Given the description of an element on the screen output the (x, y) to click on. 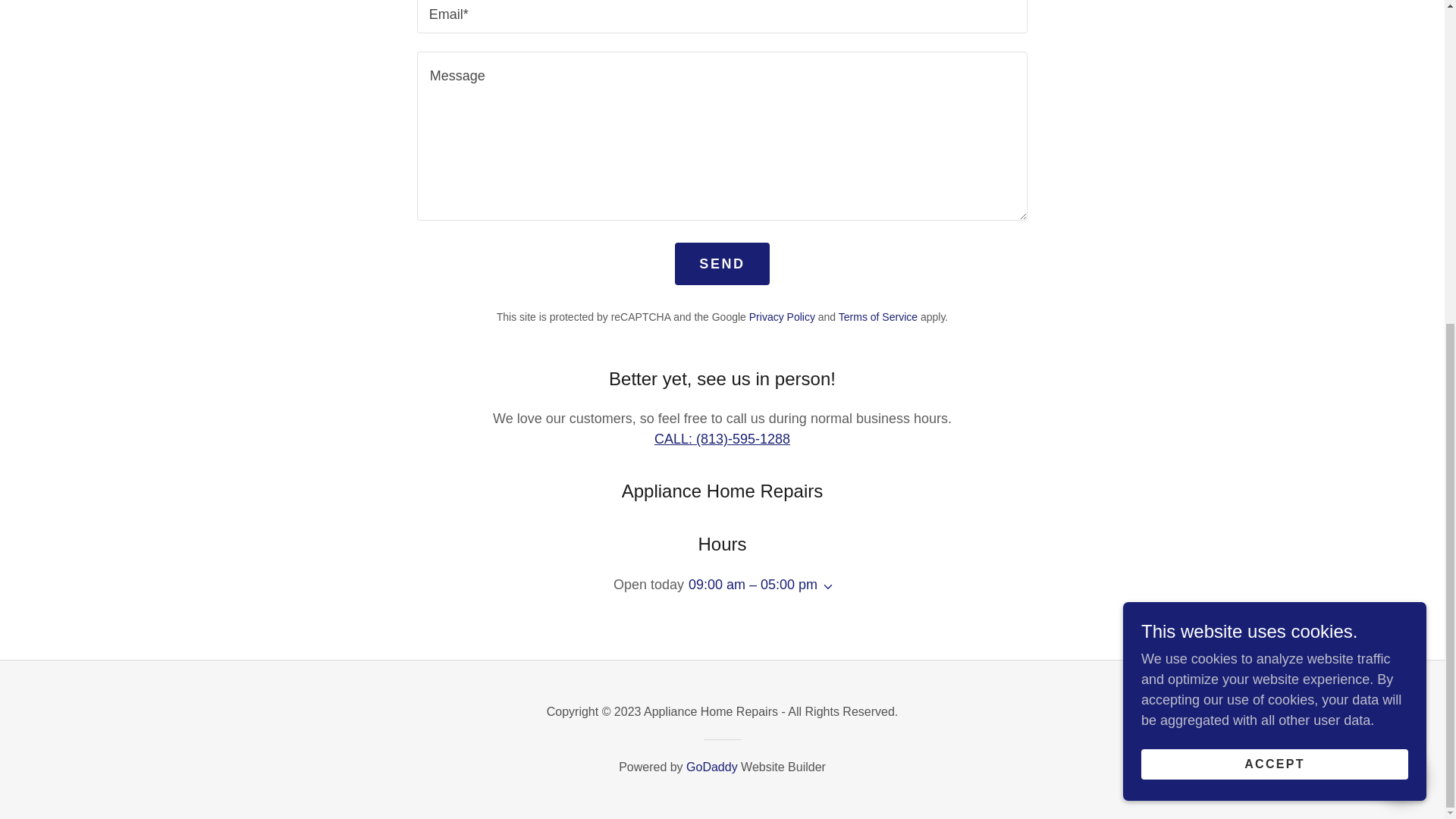
ACCEPT (1274, 235)
Privacy Policy (782, 316)
GoDaddy (711, 766)
SEND (721, 263)
Terms of Service (877, 316)
